Given the description of an element on the screen output the (x, y) to click on. 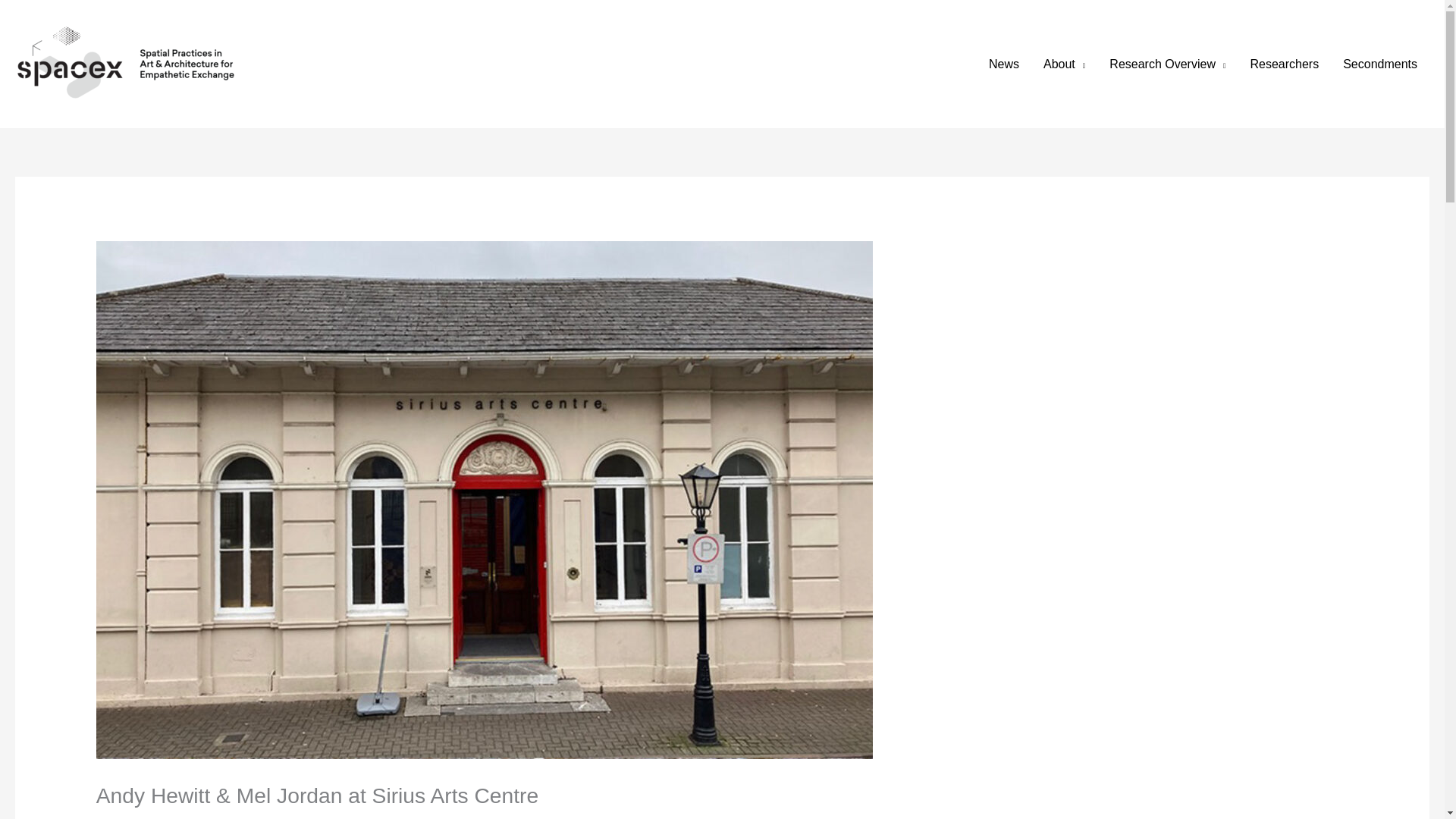
Secondments (1379, 63)
About (1063, 63)
Research Overview (1167, 63)
Researchers (1283, 63)
News (1003, 63)
